Given the description of an element on the screen output the (x, y) to click on. 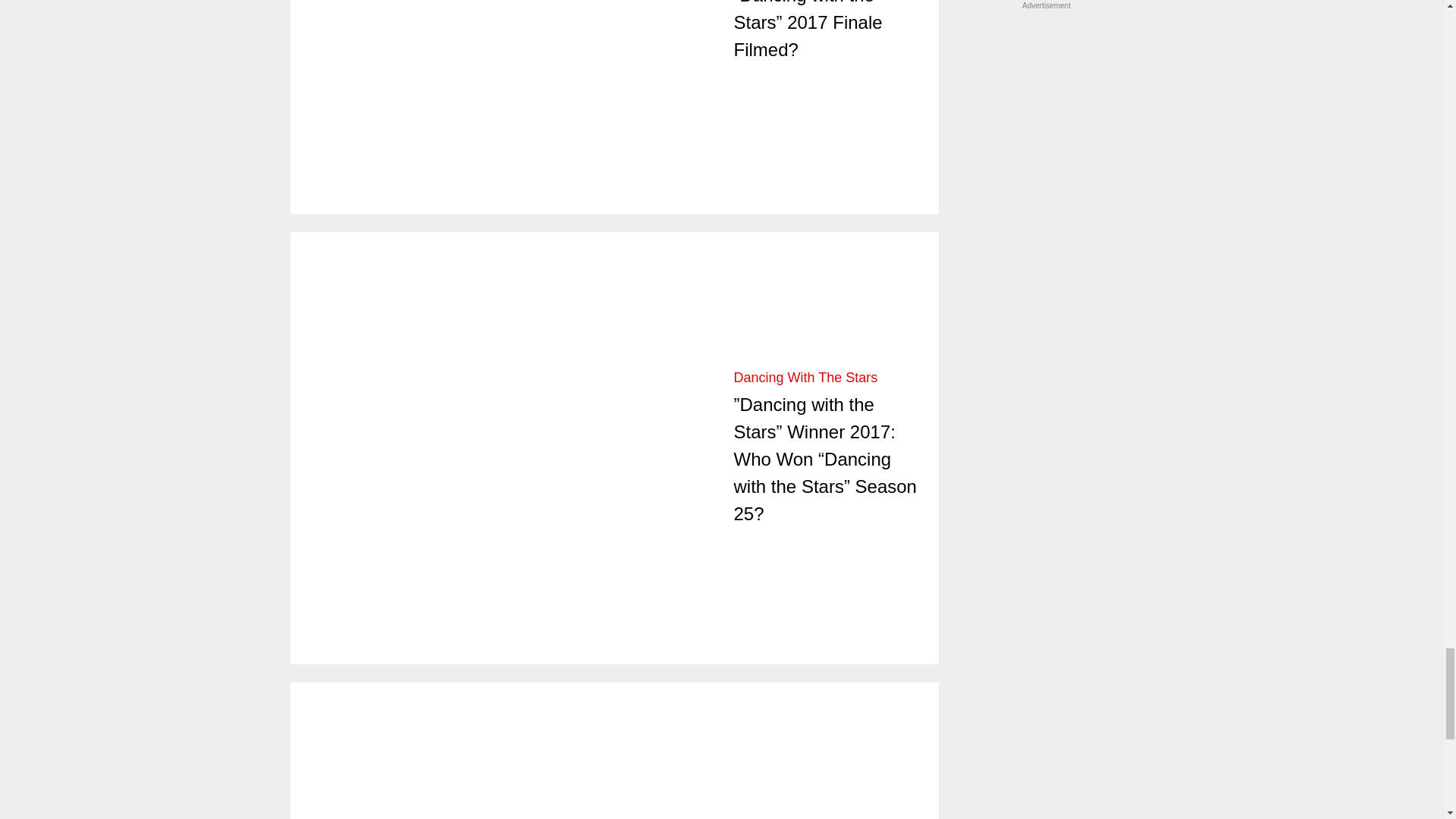
Category Name (805, 377)
